Given the description of an element on the screen output the (x, y) to click on. 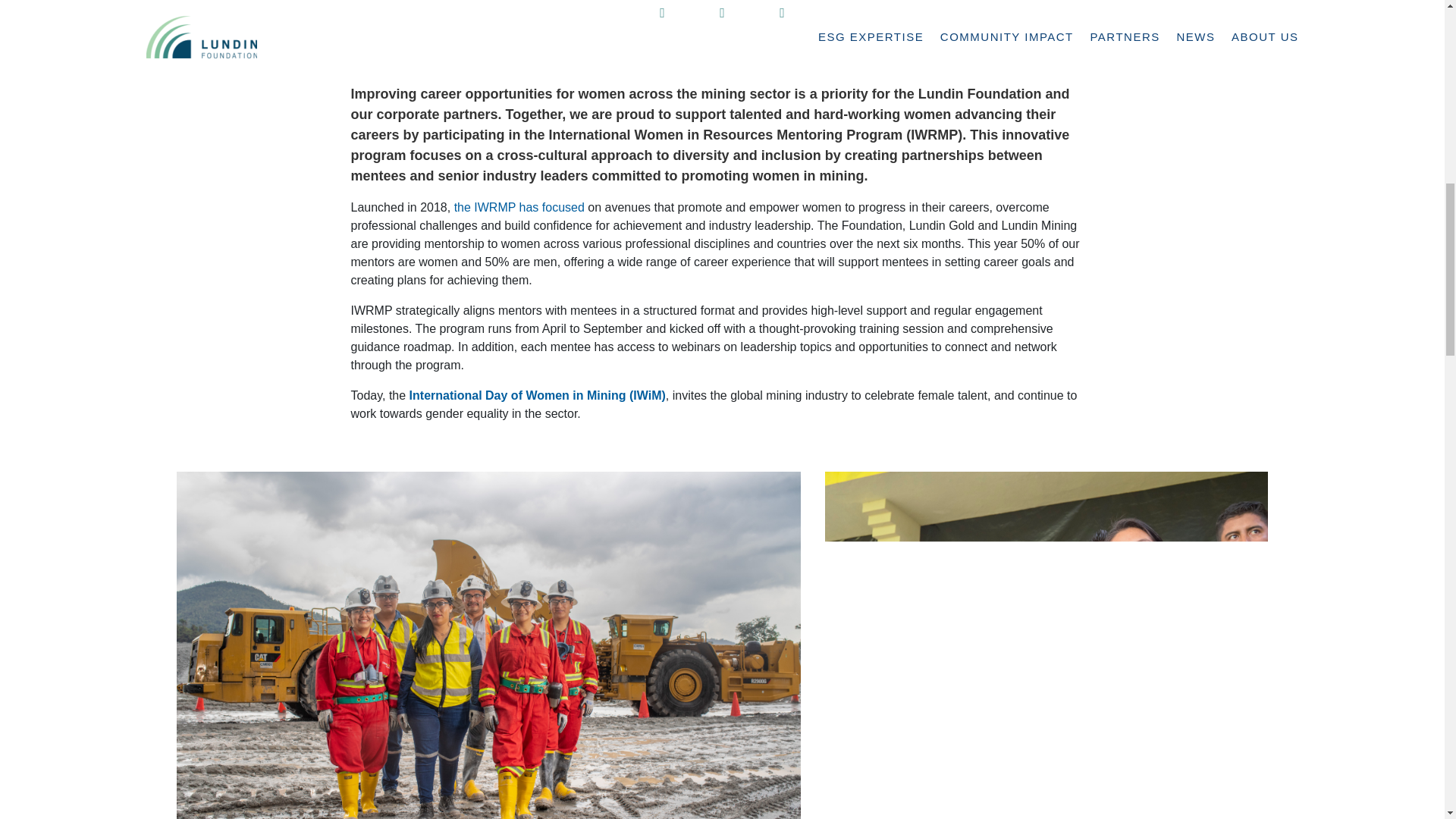
Tweet (722, 18)
Share on LinkedIn (662, 18)
the IWRMP has focused (519, 205)
Email (782, 18)
